Given the description of an element on the screen output the (x, y) to click on. 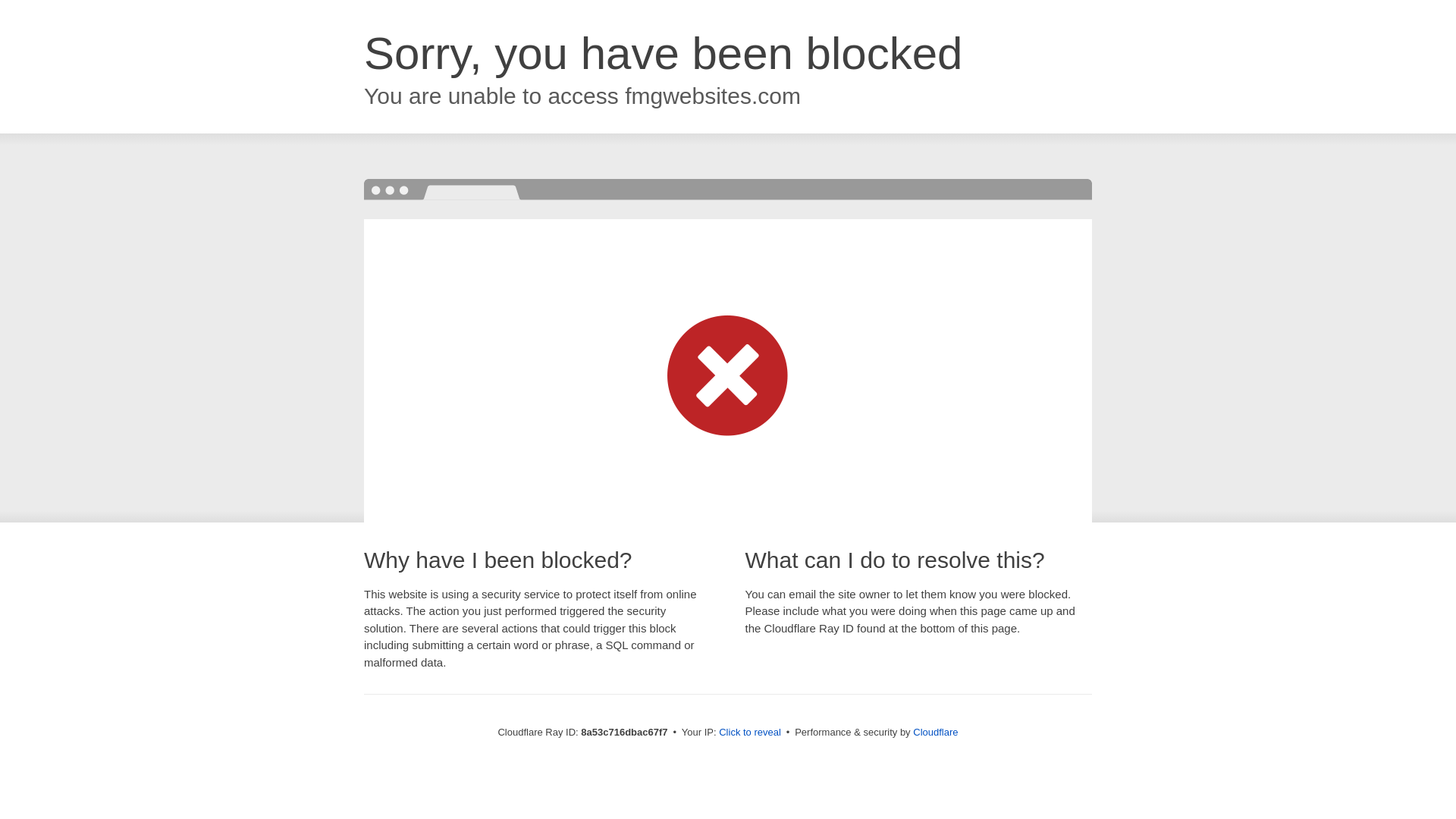
Click to reveal (749, 732)
Cloudflare (935, 731)
